Given the description of an element on the screen output the (x, y) to click on. 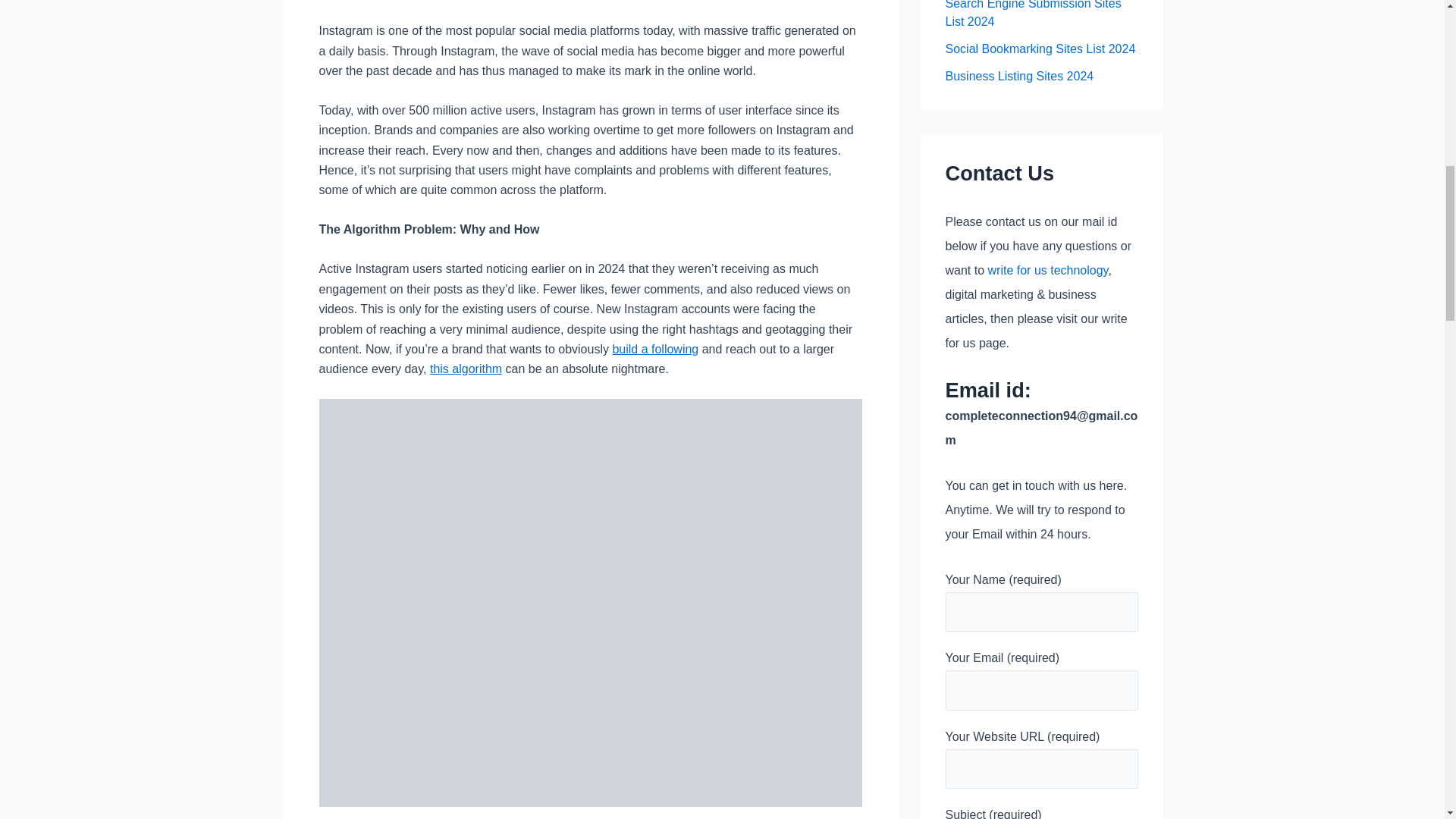
build a following (654, 349)
this algorithm (465, 368)
